Given the description of an element on the screen output the (x, y) to click on. 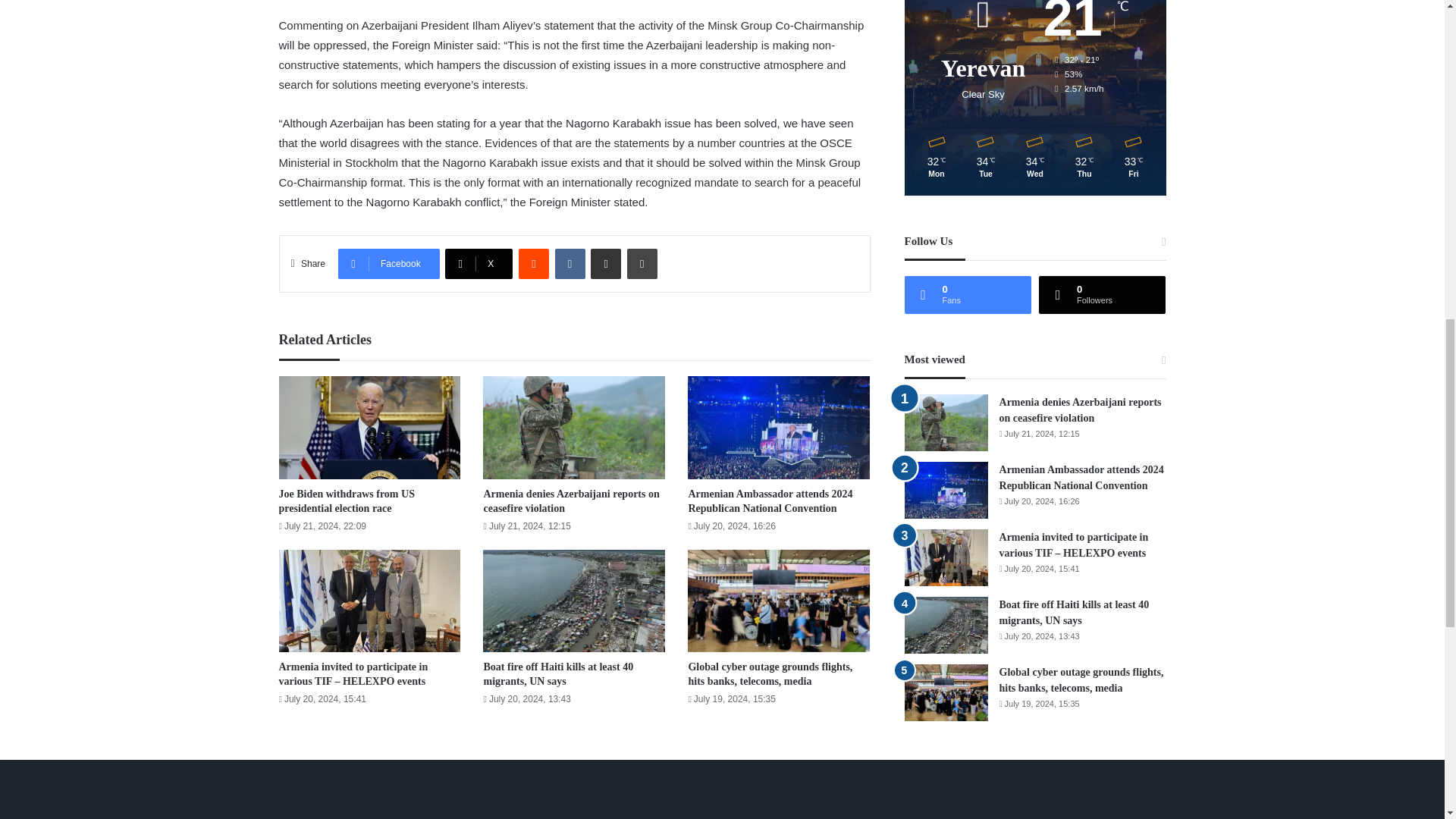
VKontakte (569, 263)
X (478, 263)
Facebook (388, 263)
Reddit (533, 263)
Facebook (388, 263)
Share via Email (606, 263)
Print (642, 263)
